Given the description of an element on the screen output the (x, y) to click on. 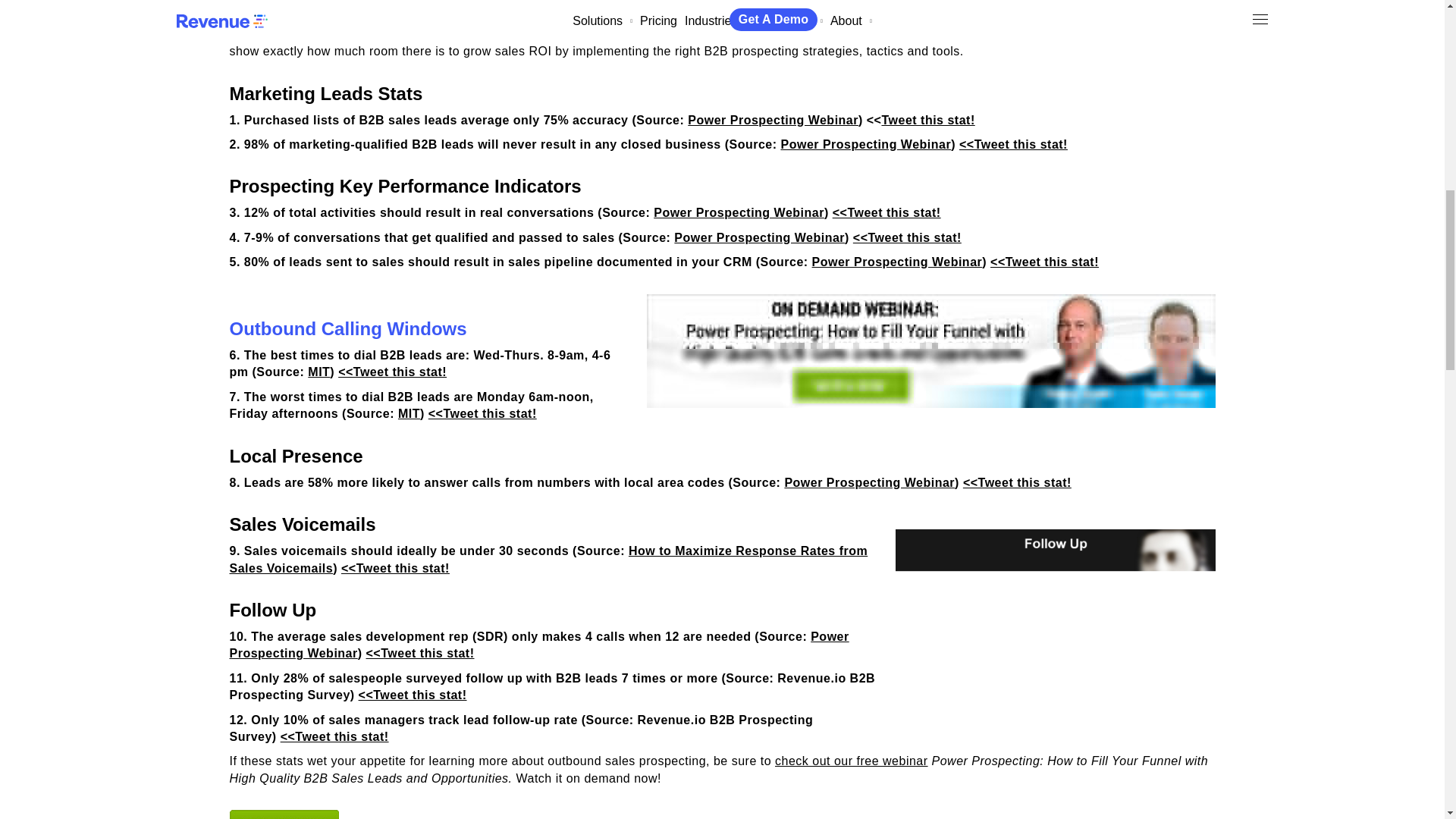
Power Prospecting Webinar (759, 237)
Power Prospecting Webinar (897, 261)
Power Prospecting Webinar (738, 212)
Power Prospecting Webinar (869, 481)
Power Prospecting Webinar (773, 119)
MIT (408, 413)
Power Prospecting Webinar (865, 144)
and available on demand here (702, 33)
How to Maximize Response Rates from Sales Voicemails (547, 559)
How to Maximize Response Rates from Sales Voicemails (547, 559)
